Given the description of an element on the screen output the (x, y) to click on. 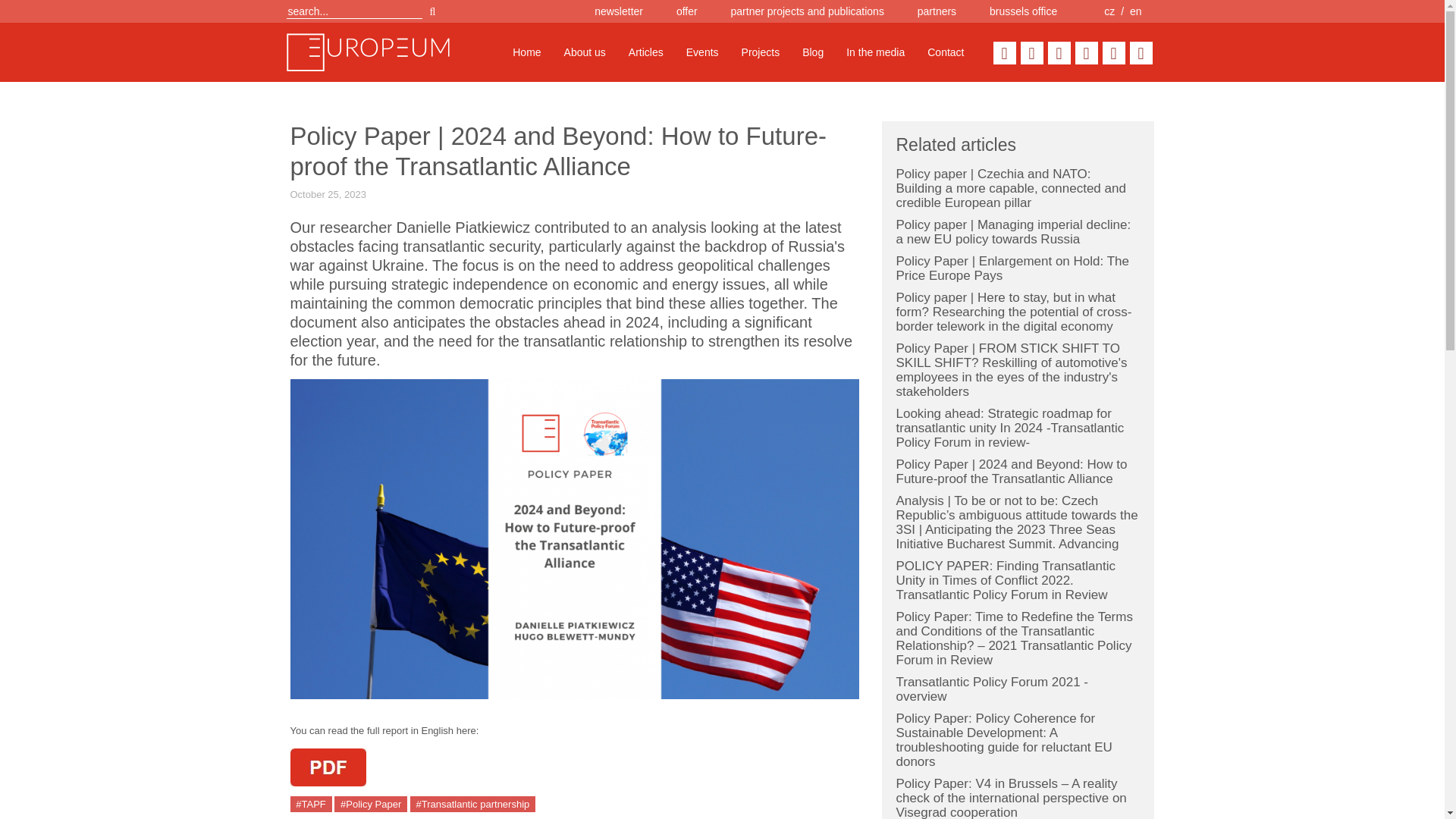
About us (585, 51)
newsletter (618, 10)
Articles (646, 51)
partners (936, 10)
en (1135, 10)
In the media (874, 51)
Home (525, 51)
Events (702, 51)
Projects (761, 51)
newsletter (618, 10)
offer (687, 10)
partner projects and publications (806, 10)
Contact (945, 51)
